Given the description of an element on the screen output the (x, y) to click on. 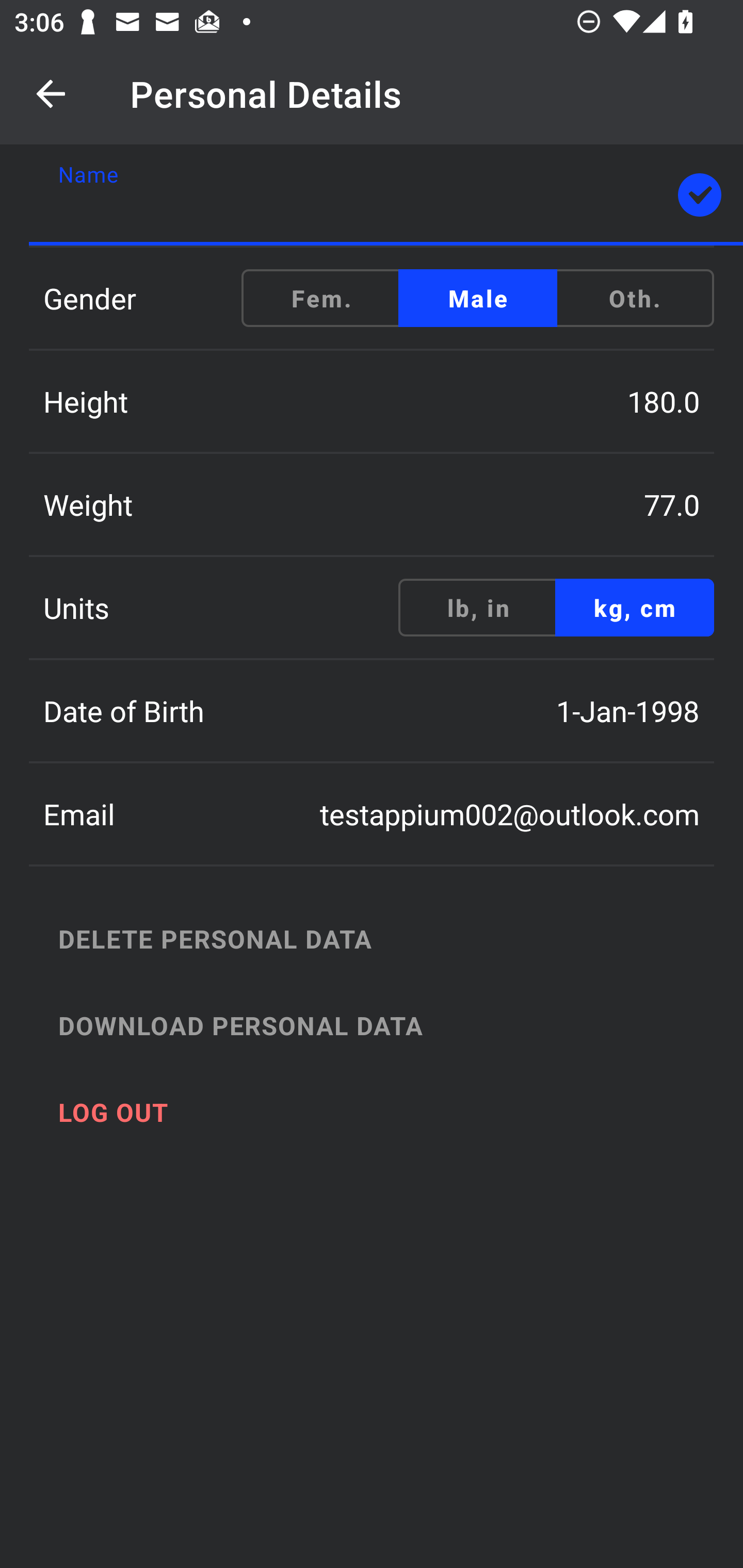
Name (385, 195)
Fem. (320, 298)
Male (477, 298)
Oth. (634, 298)
Height 180.0 (371, 401)
Weight 77.0 (371, 504)
lb, in (477, 607)
kg, cm (634, 607)
Date of Birth 1-Jan-1998 (371, 711)
Email testappium002@outlook.com (371, 813)
DELETE PERSONAL DATA (393, 938)
DOWNLOAD PERSONAL DATA (393, 1025)
LOG OUT (393, 1112)
